Given the description of an element on the screen output the (x, y) to click on. 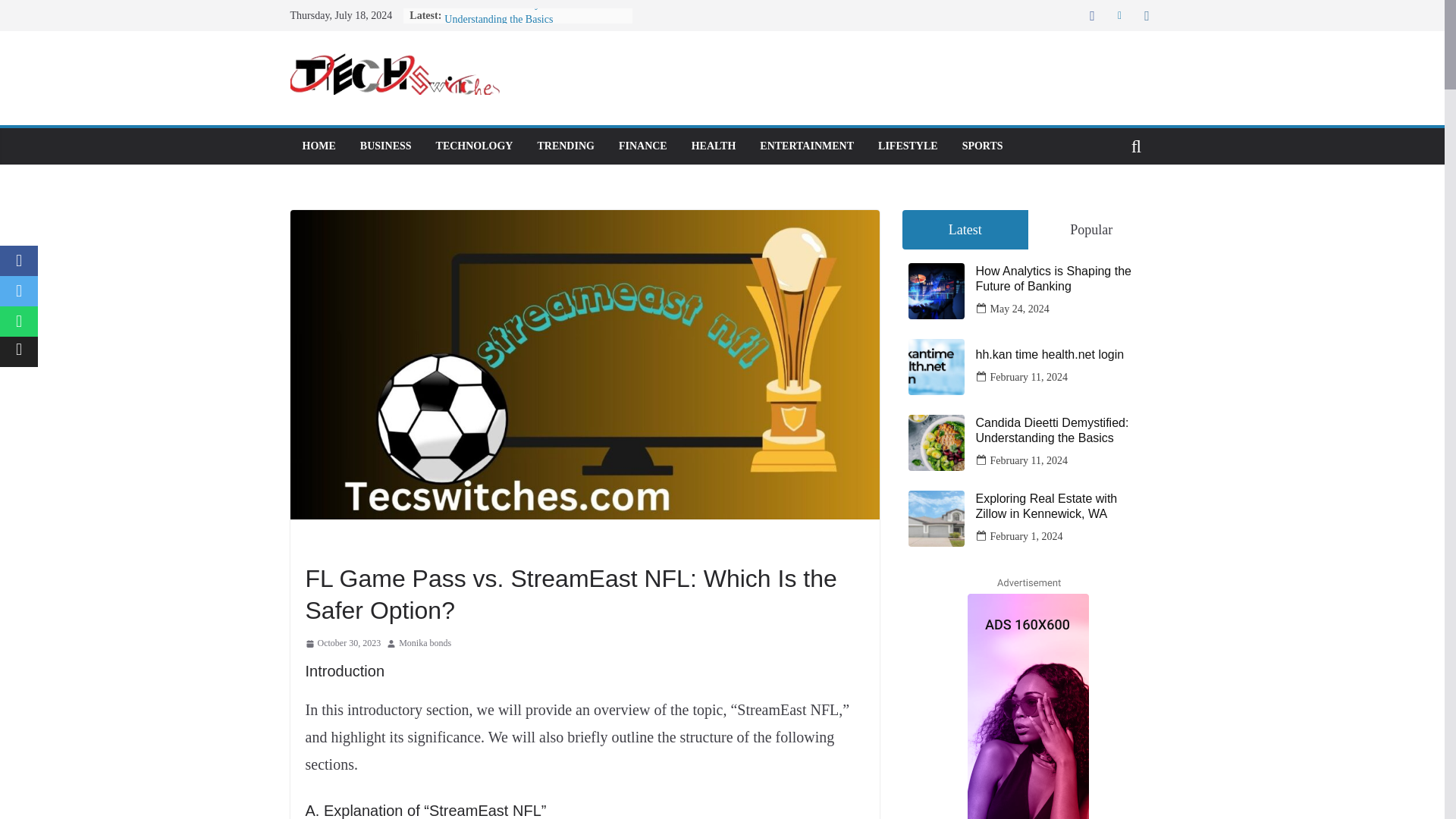
SPORTS (323, 544)
Monika bonds (424, 643)
Candida Dieetti Demystified: Understanding the Basics (506, 12)
Monika bonds (424, 643)
October 30, 2023 (342, 643)
Exploring Real Estate with Zillow in Kennewick, WA (1061, 505)
May 24, 2024 (1019, 308)
LIFESTYLE (907, 146)
FINANCE (642, 146)
February 11, 2024 (1029, 460)
February 11, 2024 (1029, 376)
BUSINESS (385, 146)
Candida Dieetti Demystified: Understanding the Basics (506, 12)
HEALTH (713, 146)
SPORTS (982, 146)
